Given the description of an element on the screen output the (x, y) to click on. 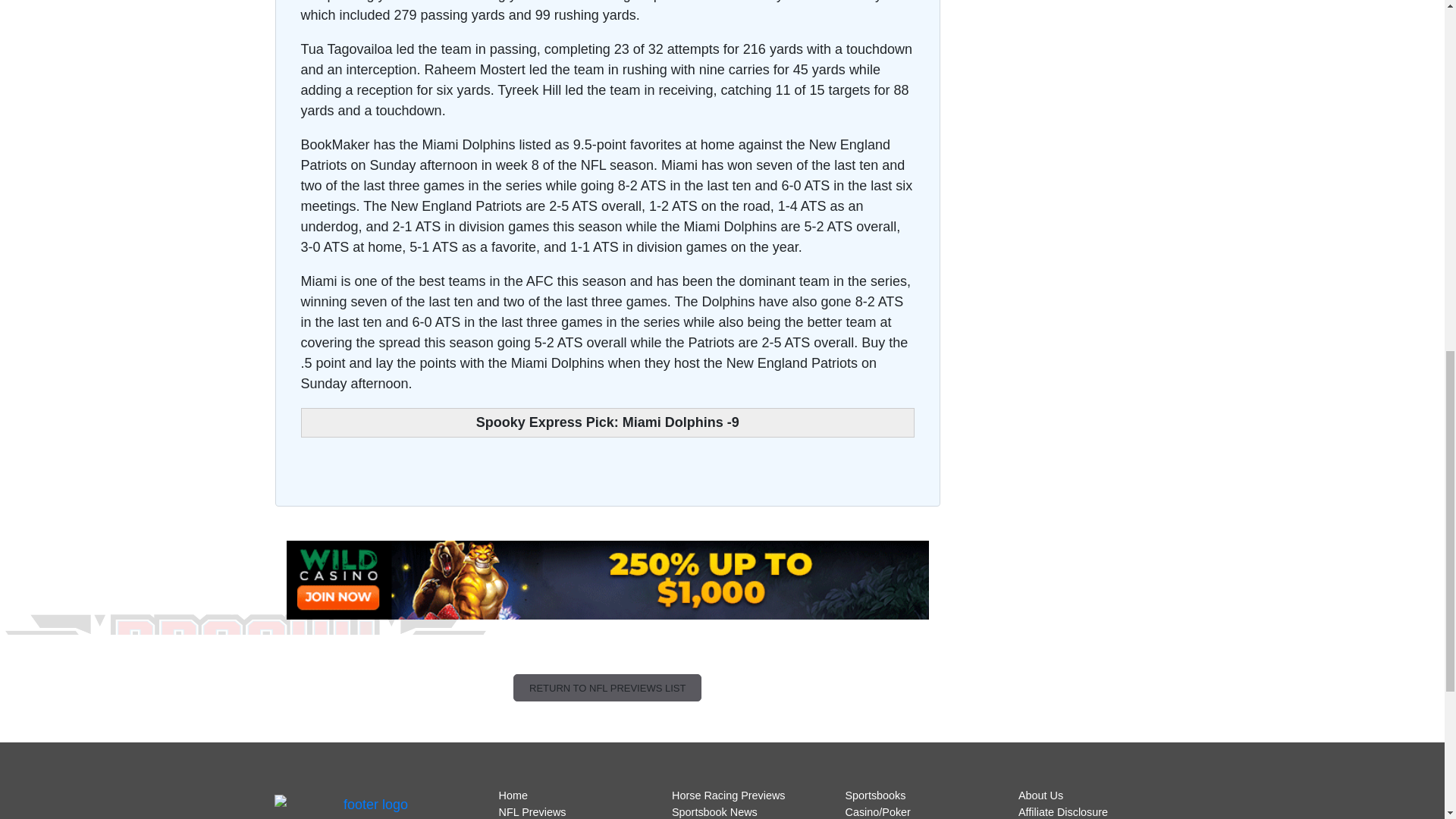
Home (513, 795)
RETURN TO NFL PREVIEWS LIST (607, 687)
